Given the description of an element on the screen output the (x, y) to click on. 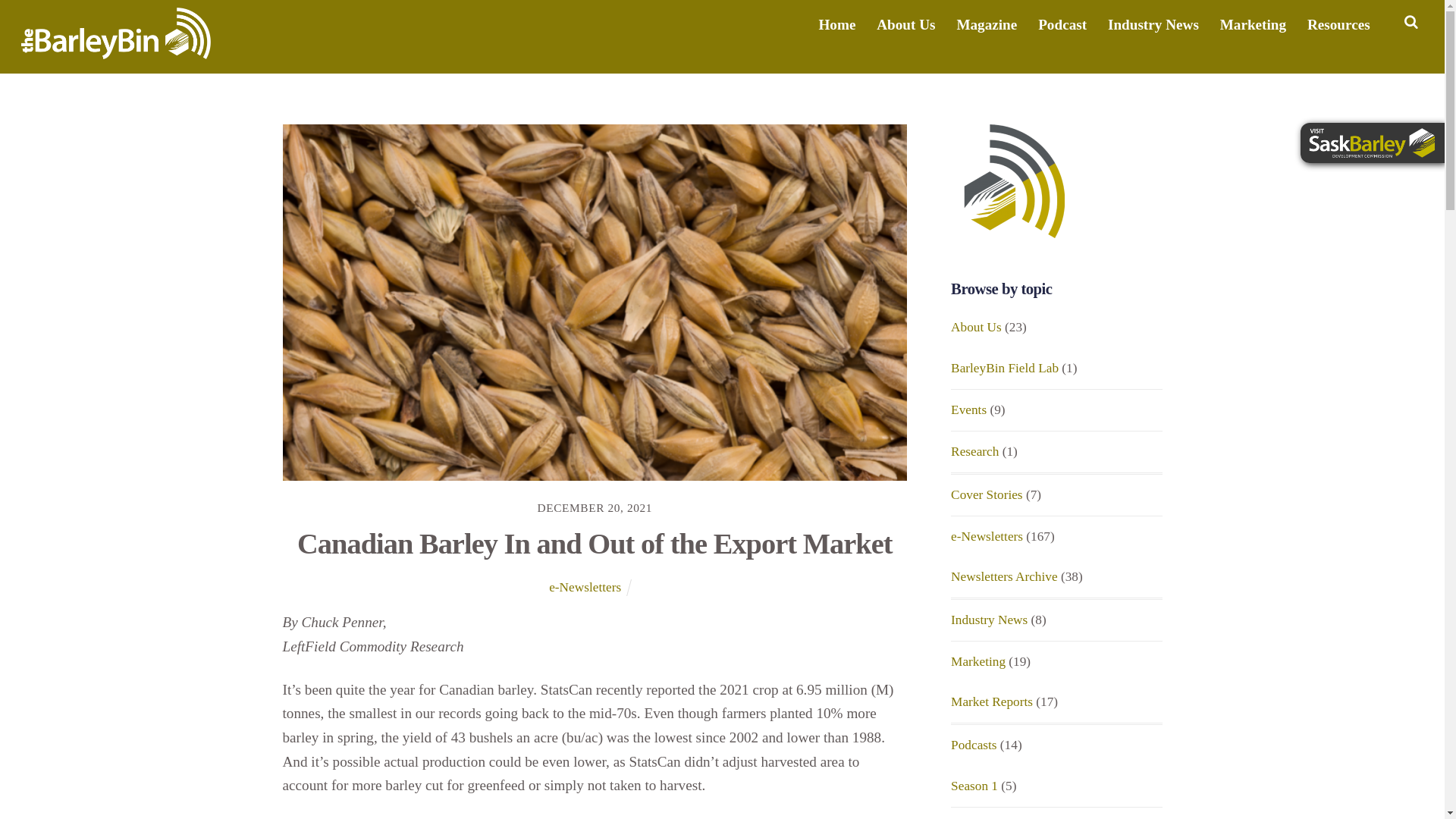
Industry News (1153, 24)
Events (968, 409)
The Barley Bin (116, 32)
The Barley Bin (116, 50)
BarleyBin Field Lab (1004, 368)
Resources (1338, 24)
Marketing (1252, 24)
Podcast (1062, 24)
Home (836, 24)
About Us (975, 327)
